Given the description of an element on the screen output the (x, y) to click on. 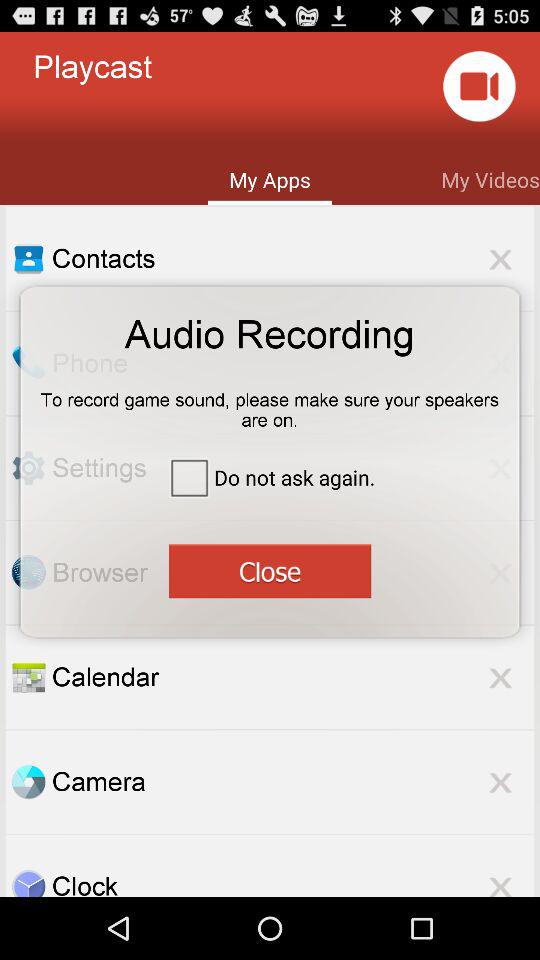
turn on the item below do not ask icon (269, 570)
